Given the description of an element on the screen output the (x, y) to click on. 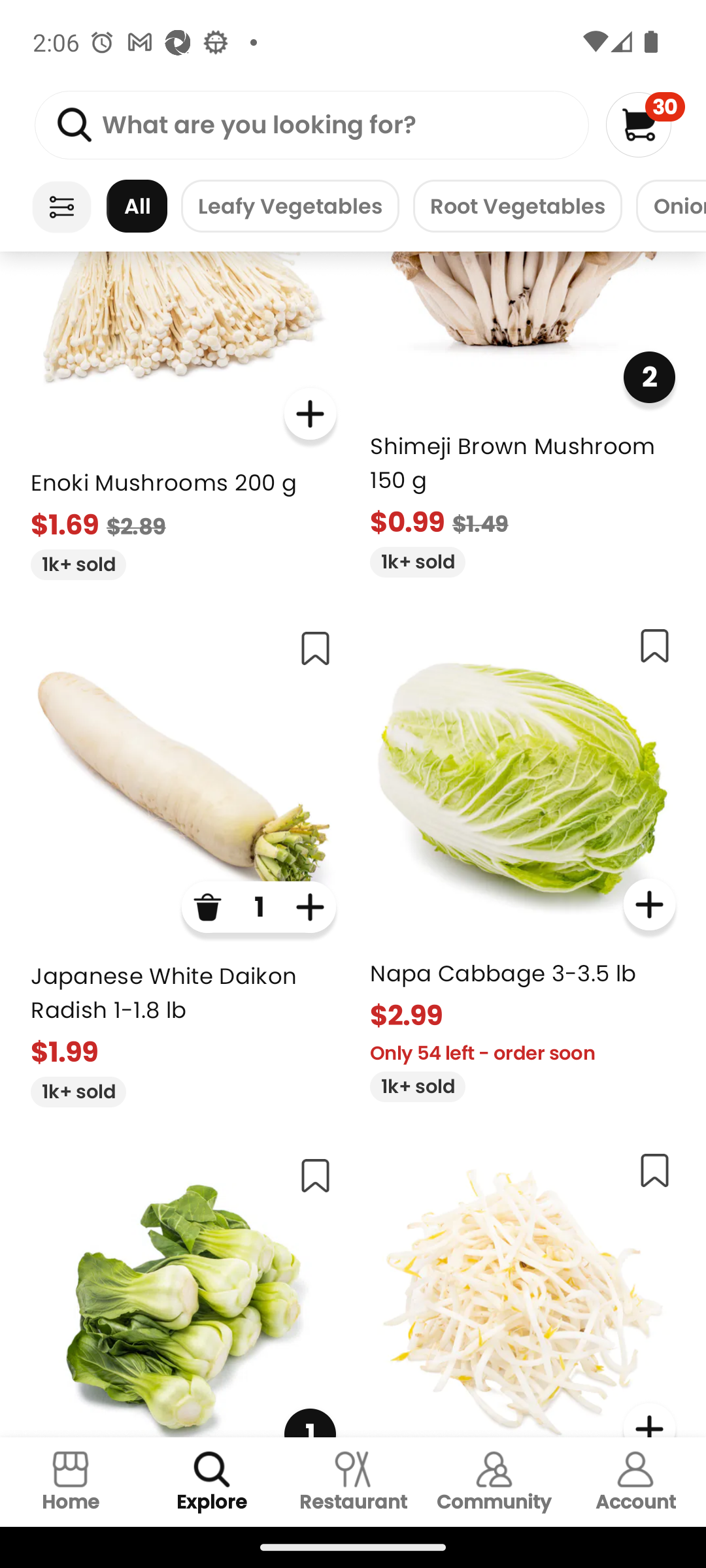
What are you looking for? (311, 124)
30 (644, 124)
All (136, 206)
Leafy Vegetables (289, 206)
Root Vegetables (517, 206)
Onions & Shallots (671, 206)
Enoki Mushrooms 200 g $1.69 $2.89 1k+ sold (182, 415)
2 (648, 376)
1 (182, 1289)
Home (70, 1482)
Explore (211, 1482)
Restaurant (352, 1482)
Community (493, 1482)
Account (635, 1482)
